Given the description of an element on the screen output the (x, y) to click on. 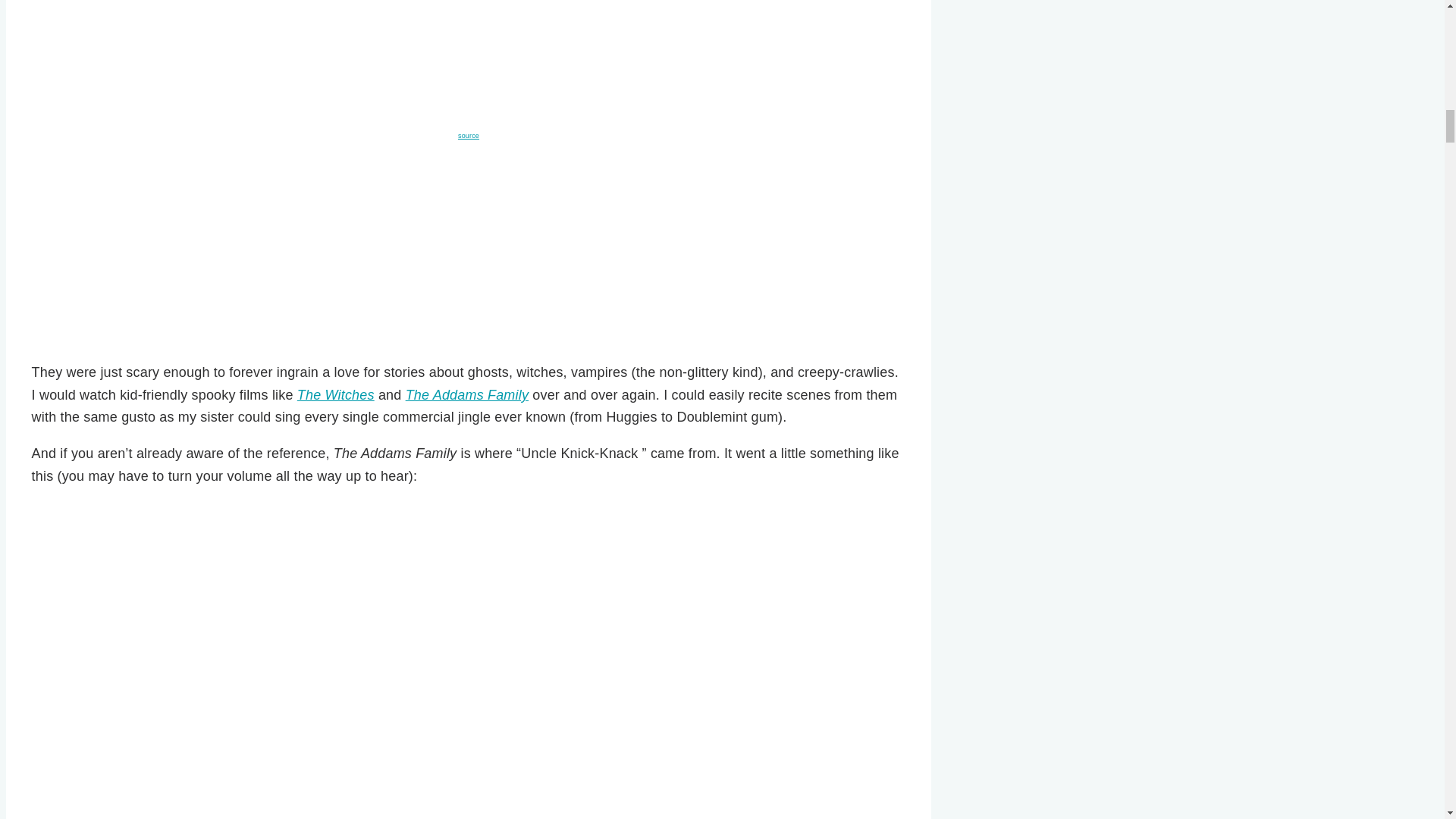
source (468, 135)
The Addams Family (467, 394)
The Witches (335, 394)
